Given the description of an element on the screen output the (x, y) to click on. 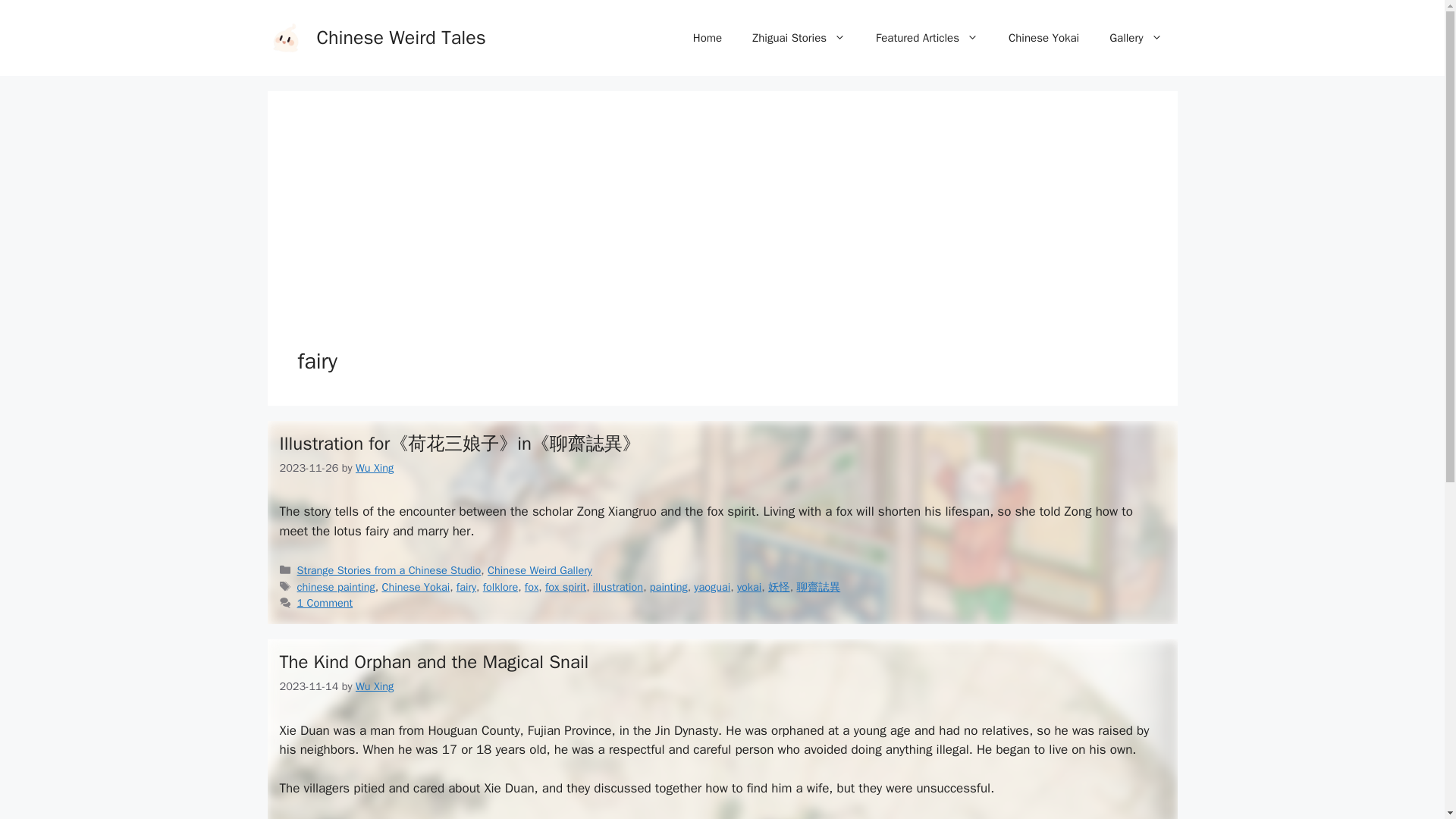
Chinese Yokai (1043, 37)
Chinese Weird Tales (401, 37)
folklore (500, 586)
Zhiguai Stories (798, 37)
fox (531, 586)
fox spirit (565, 586)
Featured Articles (926, 37)
Strange Stories from a Chinese Studio (389, 570)
Chinese Weird Gallery (539, 570)
illustration (617, 586)
View all posts by Wu Xing (374, 468)
fairy (466, 586)
View all posts by Wu Xing (374, 685)
Home (707, 37)
chinese painting (336, 586)
